Given the description of an element on the screen output the (x, y) to click on. 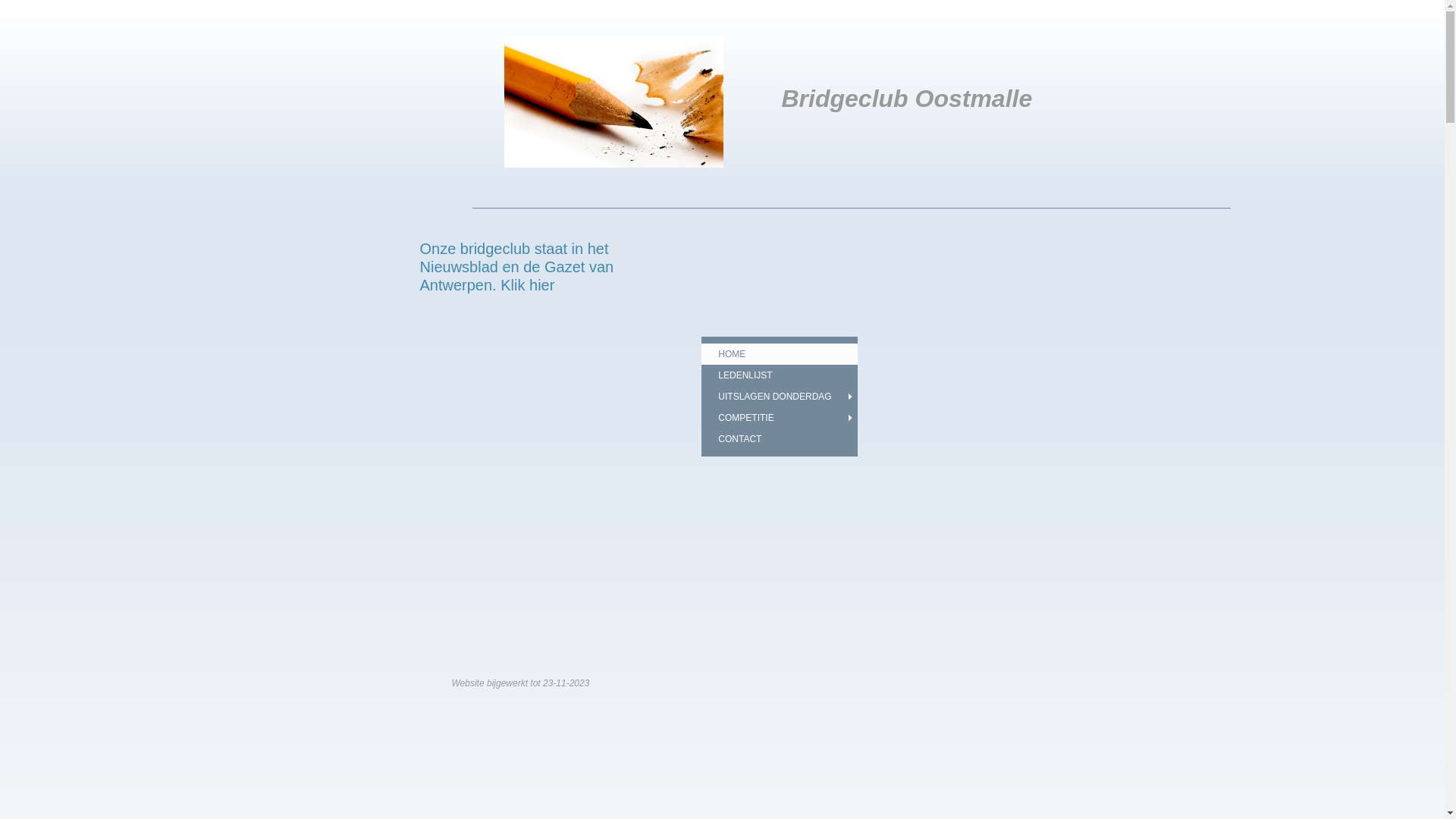
  Element type: text (612, 43)
UITSLAGEN DONDERDAG Element type: text (778, 396)
LEDENLIJST Element type: text (778, 374)
COMPETITIE Element type: text (778, 417)
CONTACT Element type: text (778, 438)
HOME Element type: text (778, 353)
